Given the description of an element on the screen output the (x, y) to click on. 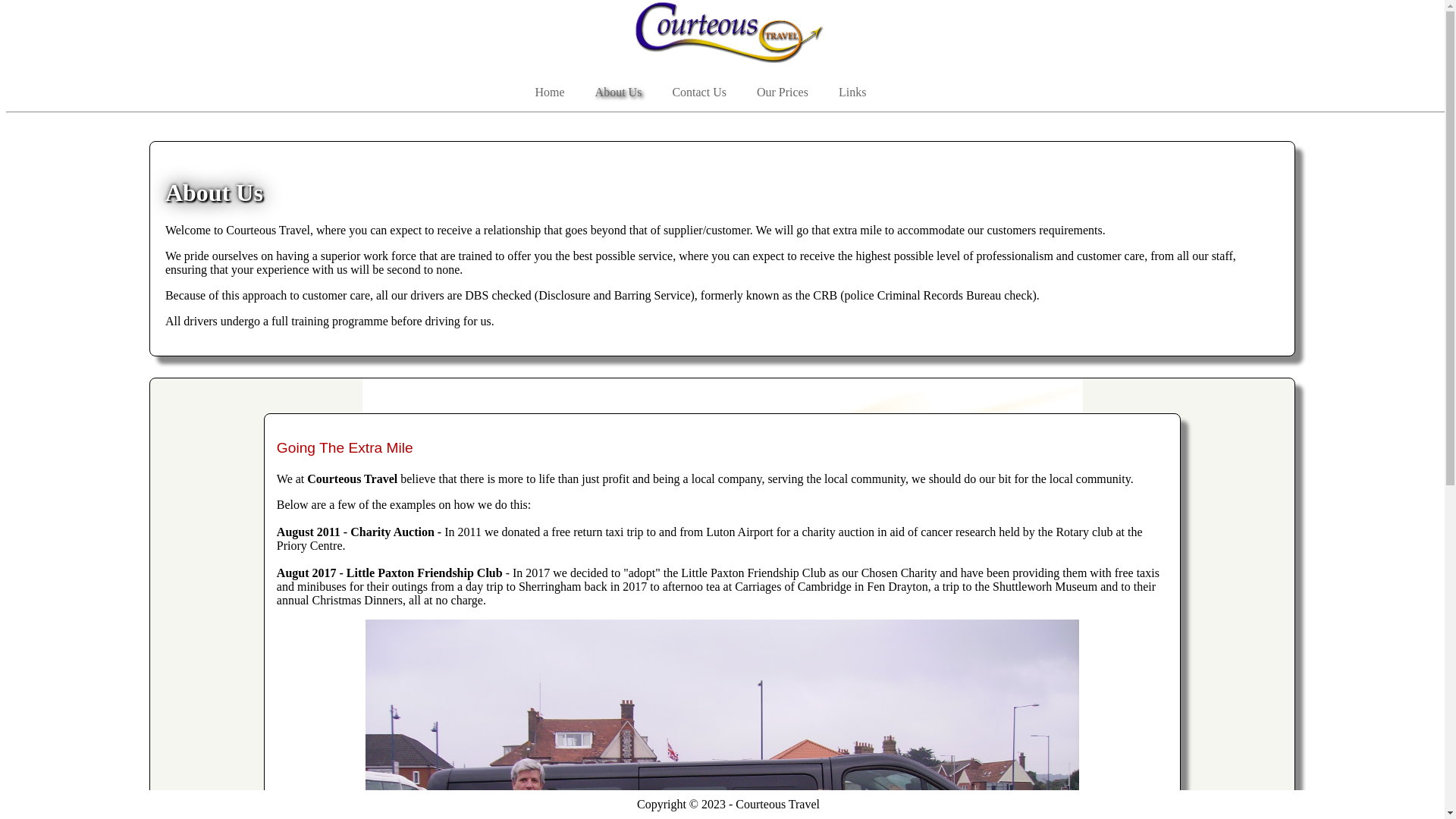
About Us (618, 92)
Contact Us (698, 92)
Home (549, 92)
Our Prices (782, 92)
Links (852, 92)
